Given the description of an element on the screen output the (x, y) to click on. 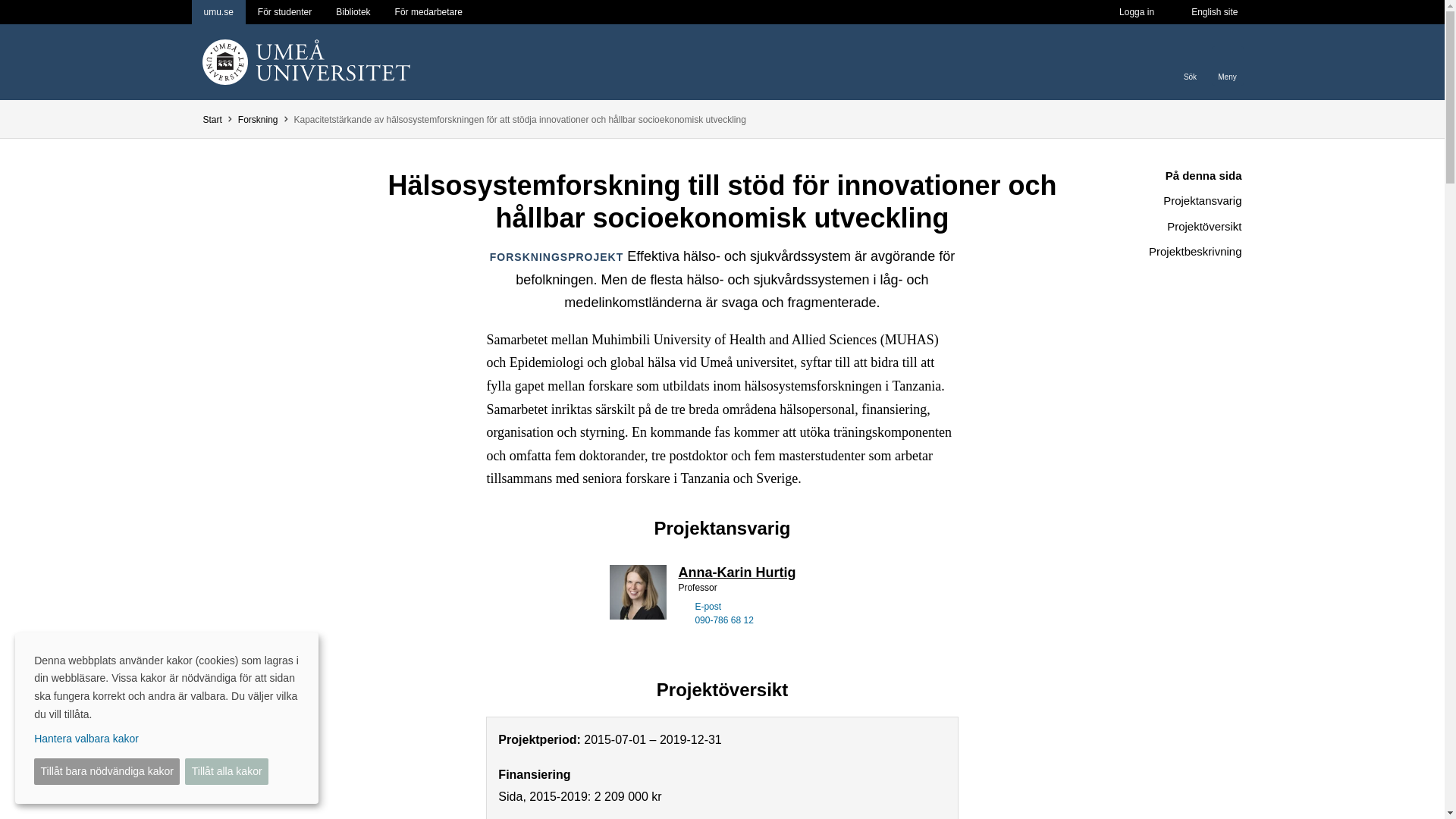
090-786 68 12 (723, 620)
Forskning (258, 119)
English site (1214, 12)
Logga in (1136, 12)
Bibliotek (352, 12)
Universitetsbibliotekets webbplats (352, 12)
Telefon (682, 619)
E-post (682, 605)
Projektansvarig (1164, 201)
Projektbeskrivning (1164, 251)
